Given the description of an element on the screen output the (x, y) to click on. 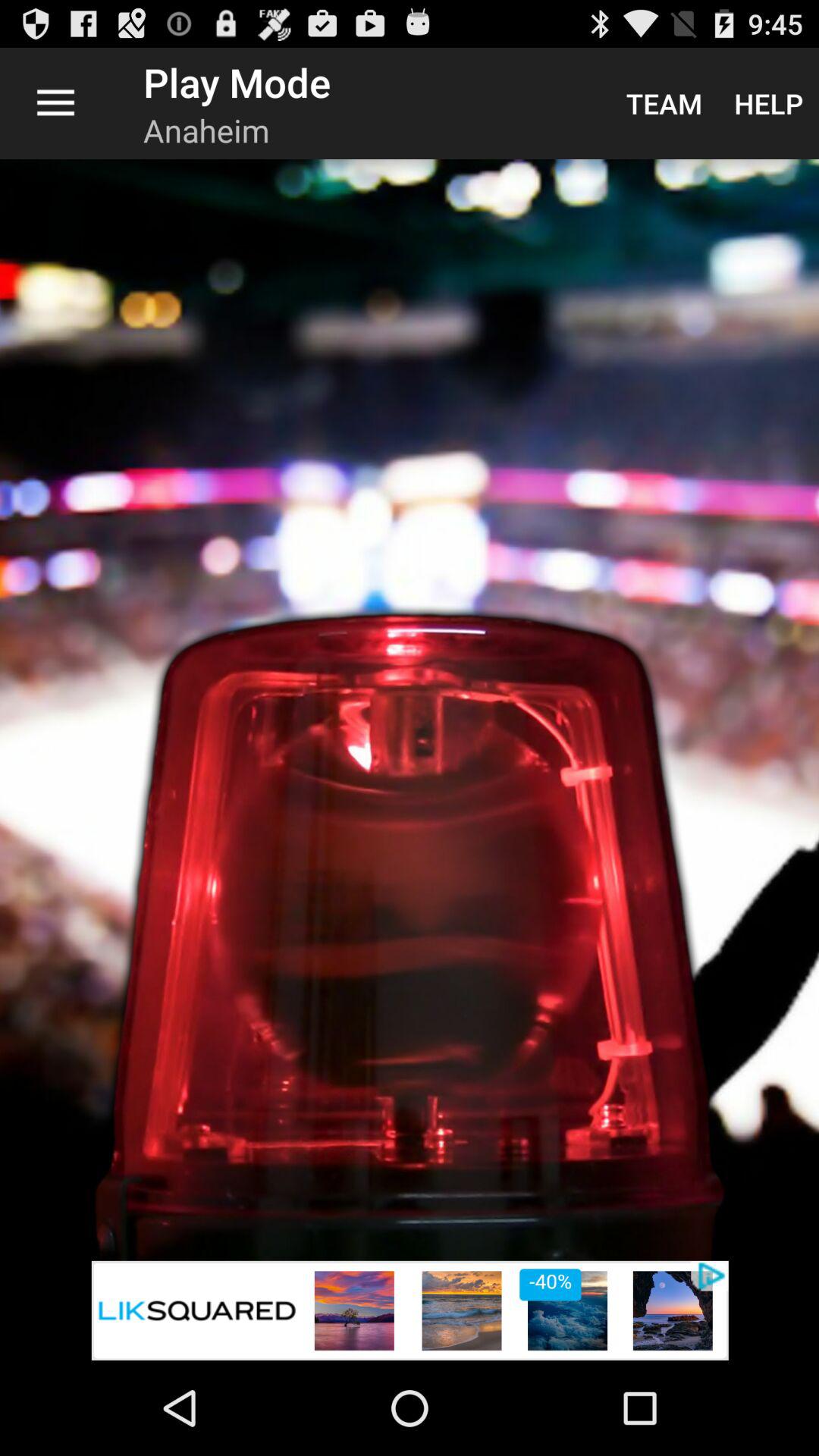
swipe to help icon (768, 103)
